Given the description of an element on the screen output the (x, y) to click on. 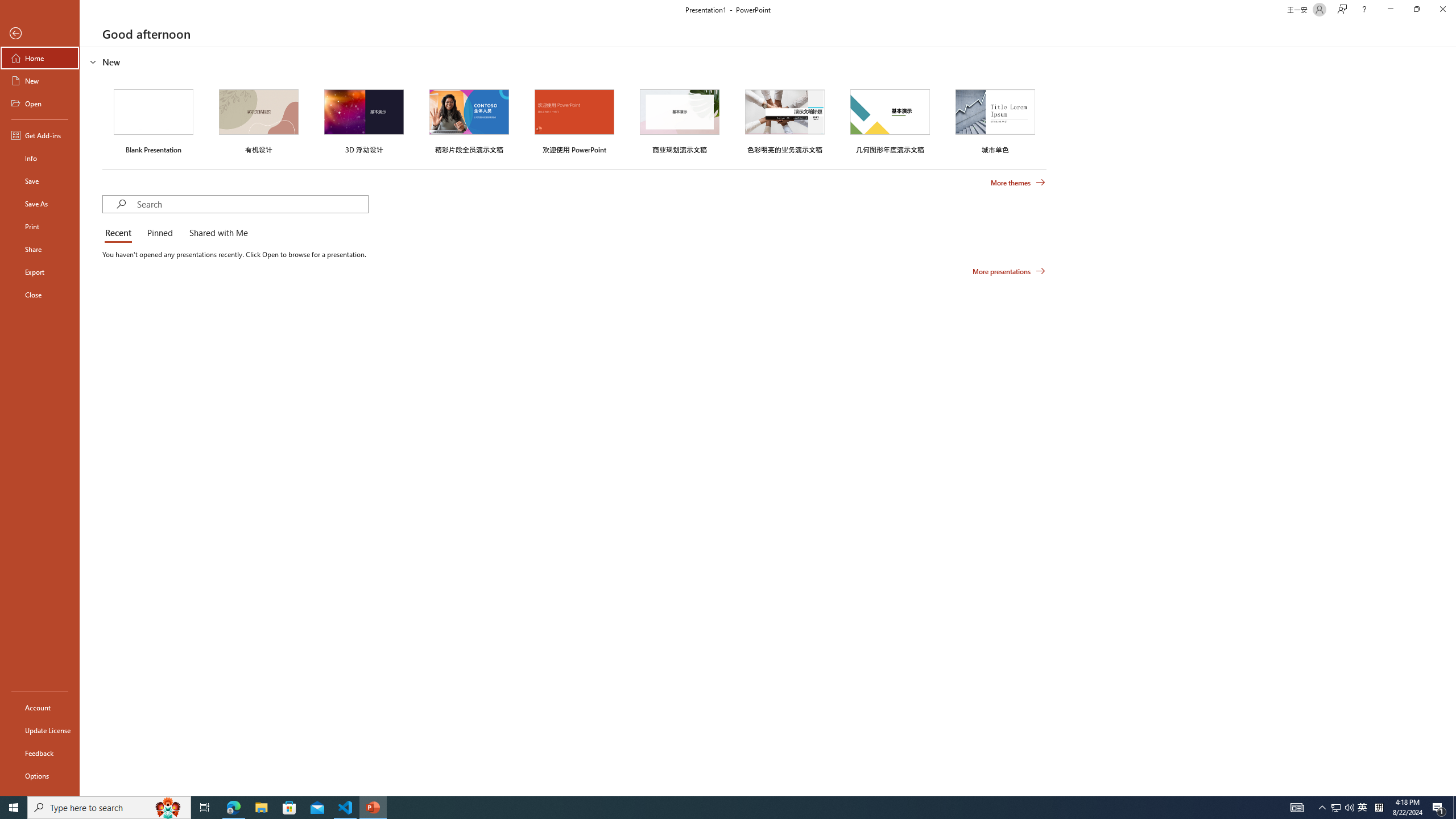
Pinned (159, 233)
Share (40, 248)
Update License (40, 730)
Options (40, 775)
Print (40, 225)
Info (40, 157)
Feedback (40, 753)
Back (40, 33)
Shared with Me (215, 233)
Help (1364, 9)
